Given the description of an element on the screen output the (x, y) to click on. 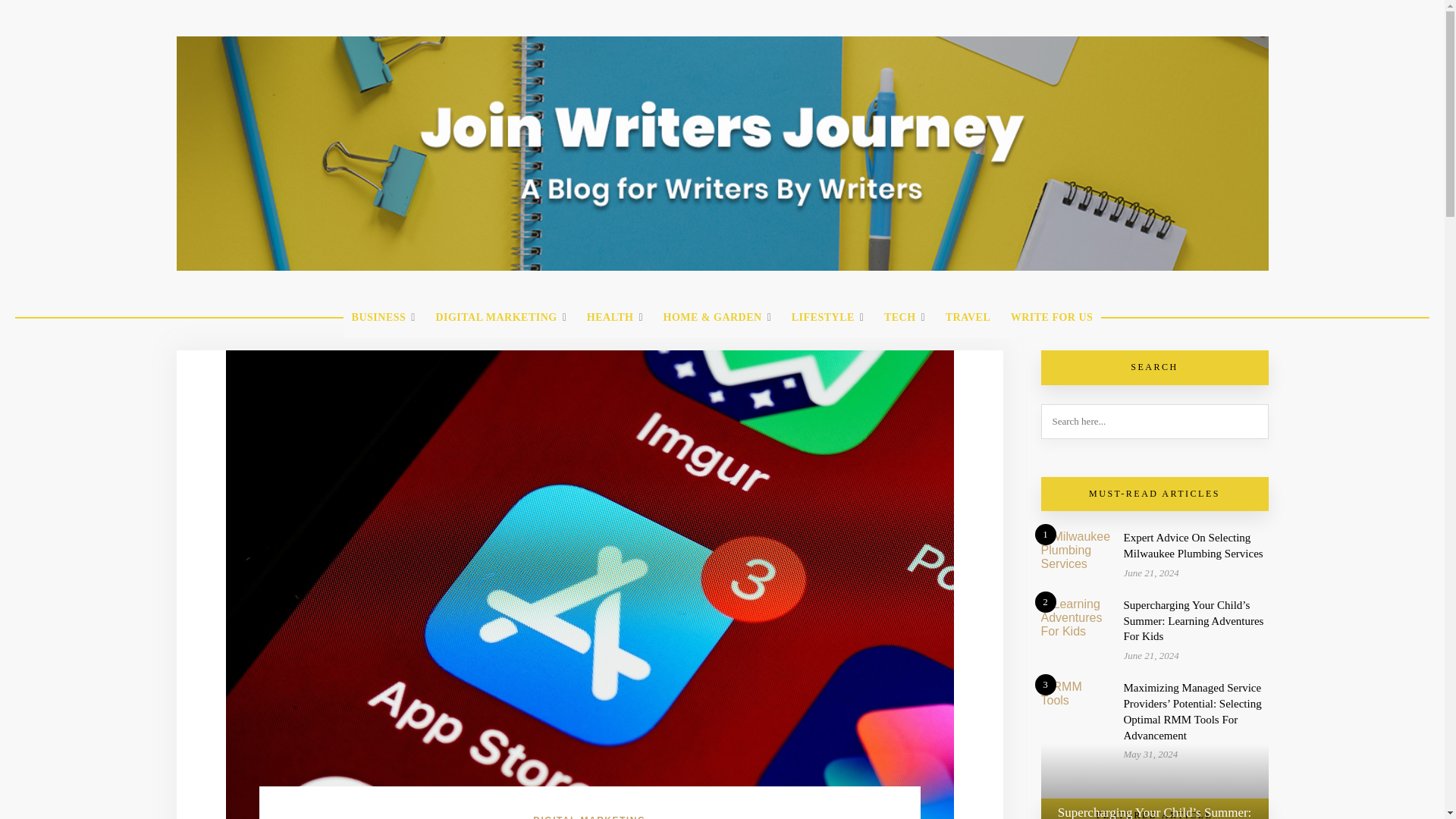
HEALTH (614, 317)
DIGITAL MARKETING (500, 317)
BUSINESS (383, 317)
TECH (903, 317)
LIFESTYLE (828, 317)
